Given the description of an element on the screen output the (x, y) to click on. 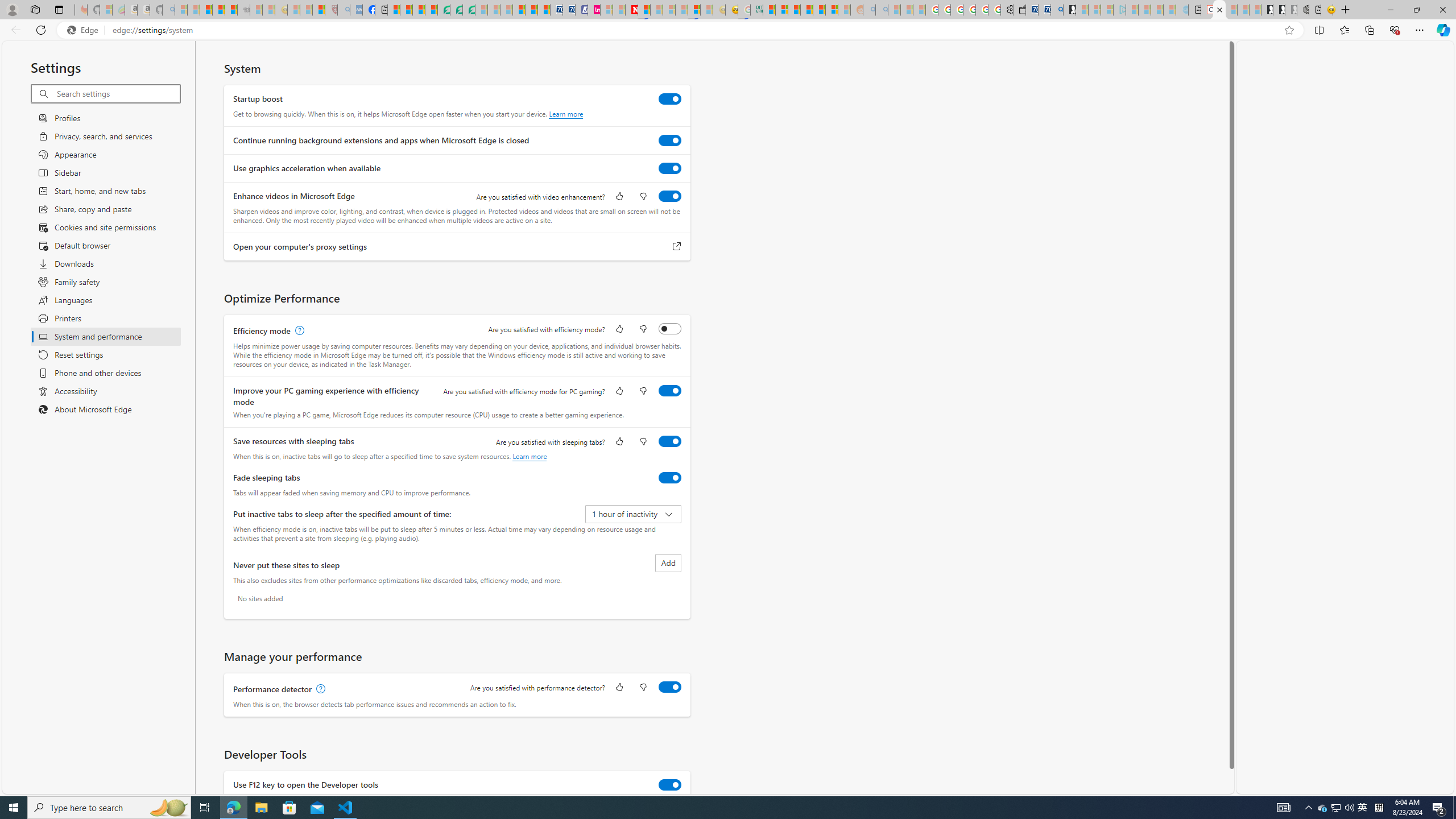
Performance detector, learn more (319, 688)
LendingTree - Compare Lenders (443, 9)
